Given the description of an element on the screen output the (x, y) to click on. 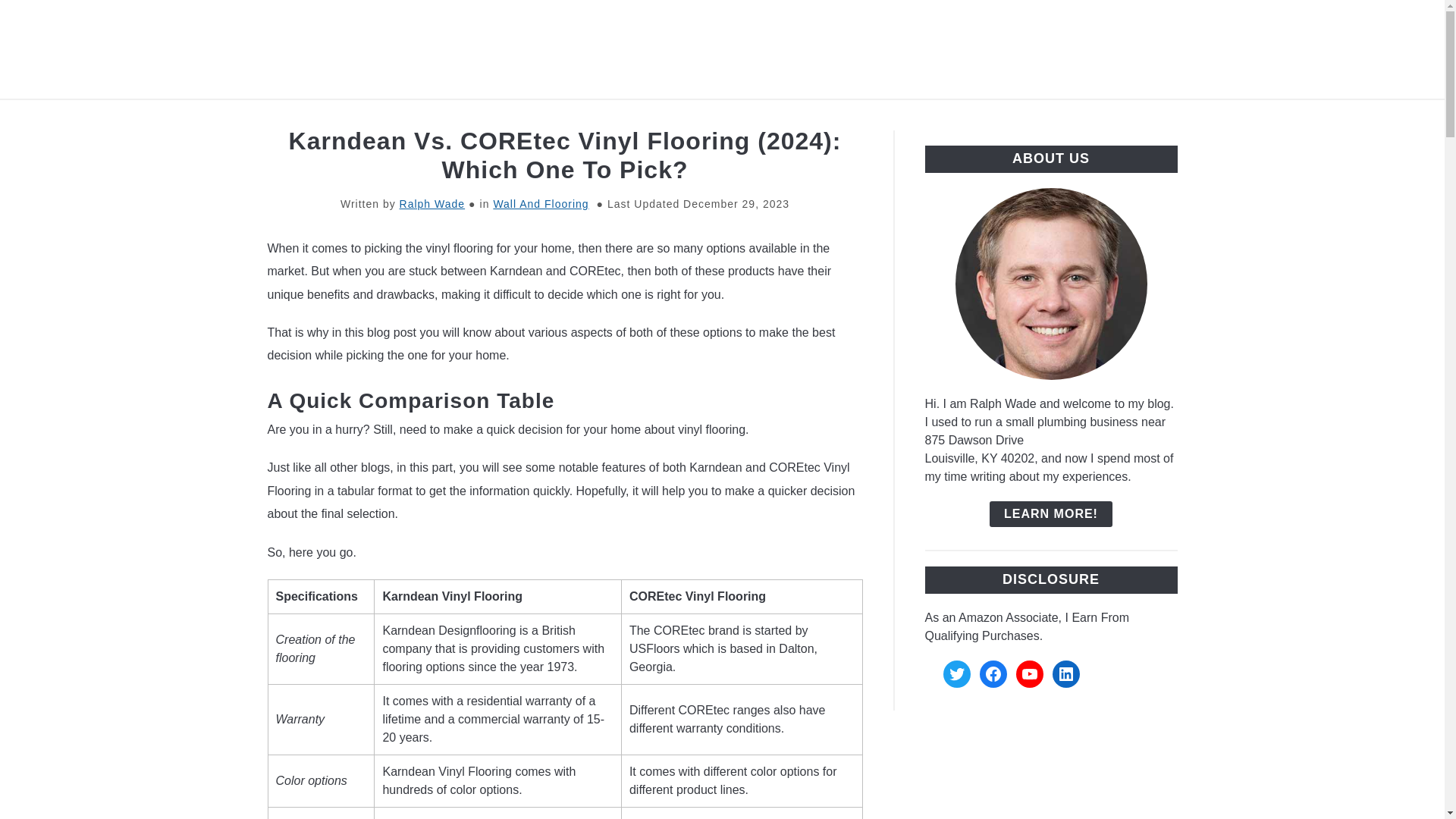
Search (1203, 49)
BLOG (776, 117)
Ralph Wade (431, 203)
Wall And Flooring (540, 203)
HOME (330, 117)
LEARN MORE! (1051, 514)
Twitter (957, 673)
TOOLS AND EQUIPMENT (645, 117)
ABOUT US (860, 117)
HOME IMPROVEMENT (457, 117)
